Given the description of an element on the screen output the (x, y) to click on. 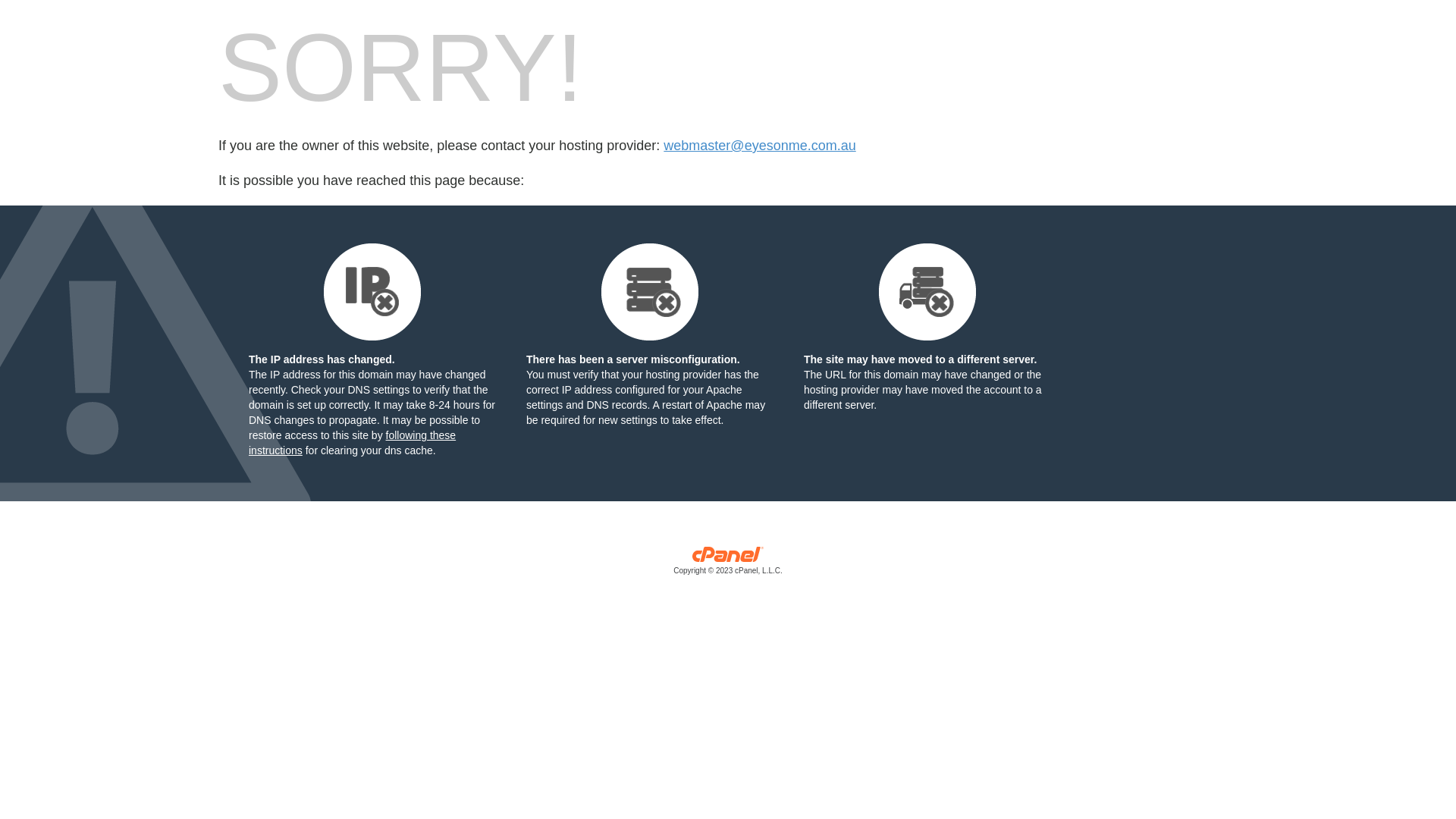
following these instructions Element type: text (351, 442)
webmaster@eyesonme.com.au Element type: text (759, 145)
